Given the description of an element on the screen output the (x, y) to click on. 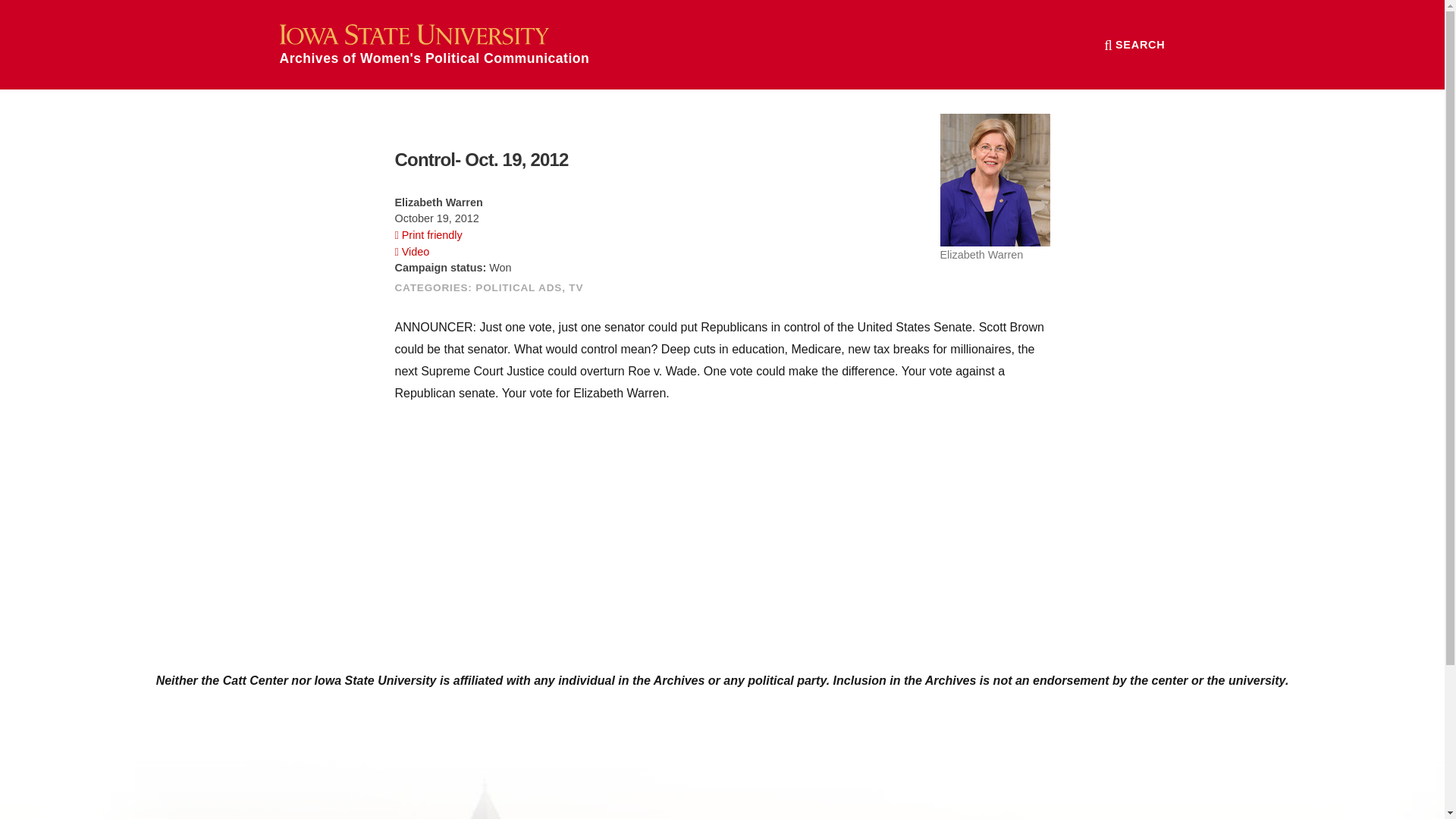
Archives of Women's Political Communication (433, 44)
TV (576, 287)
Home (433, 44)
Video (411, 251)
Print friendly (427, 234)
Search this website (1133, 44)
POLITICAL ADS (519, 287)
